Given the description of an element on the screen output the (x, y) to click on. 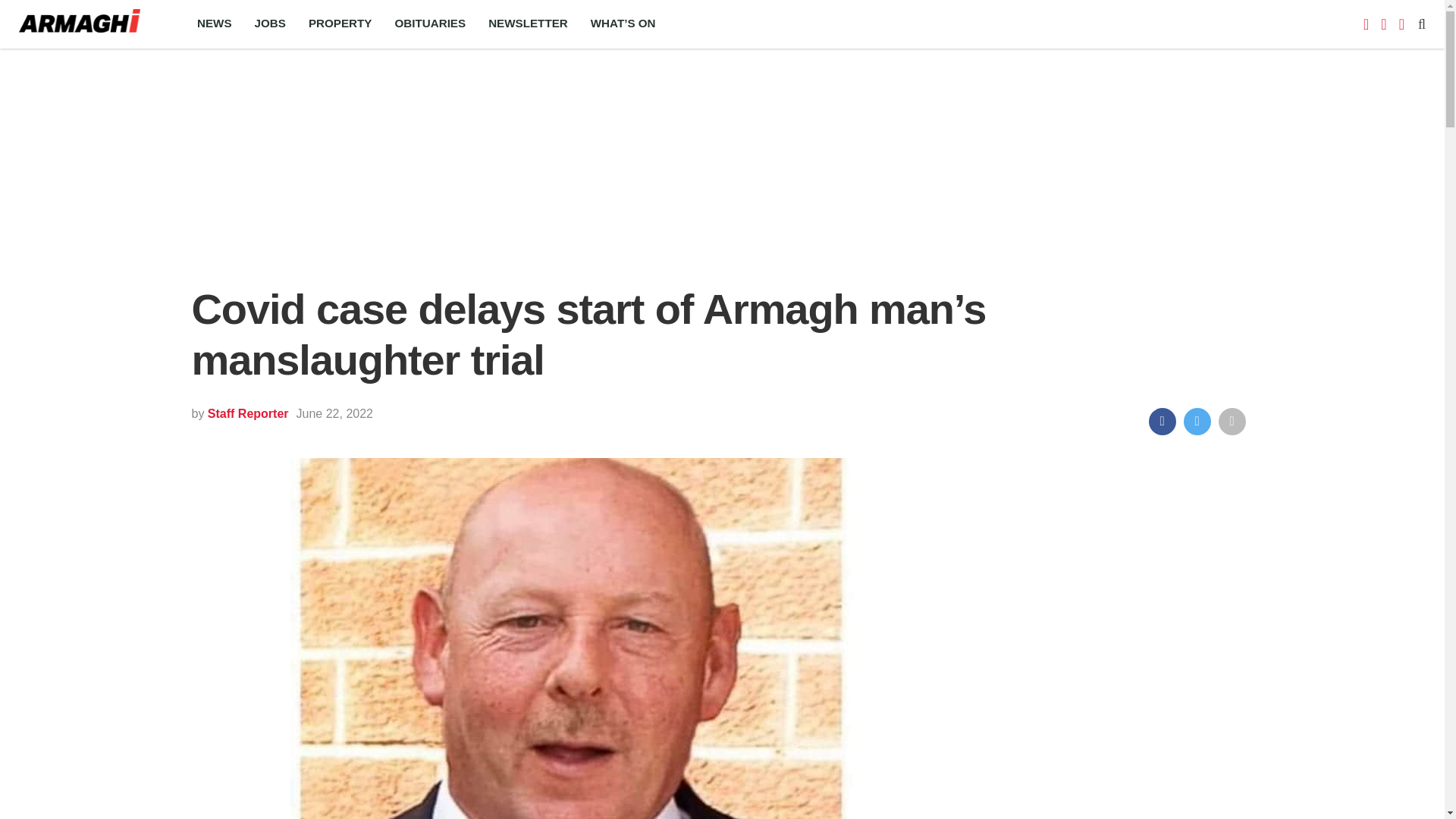
Posts by Staff Reporter (248, 413)
NEWS (214, 24)
